Given the description of an element on the screen output the (x, y) to click on. 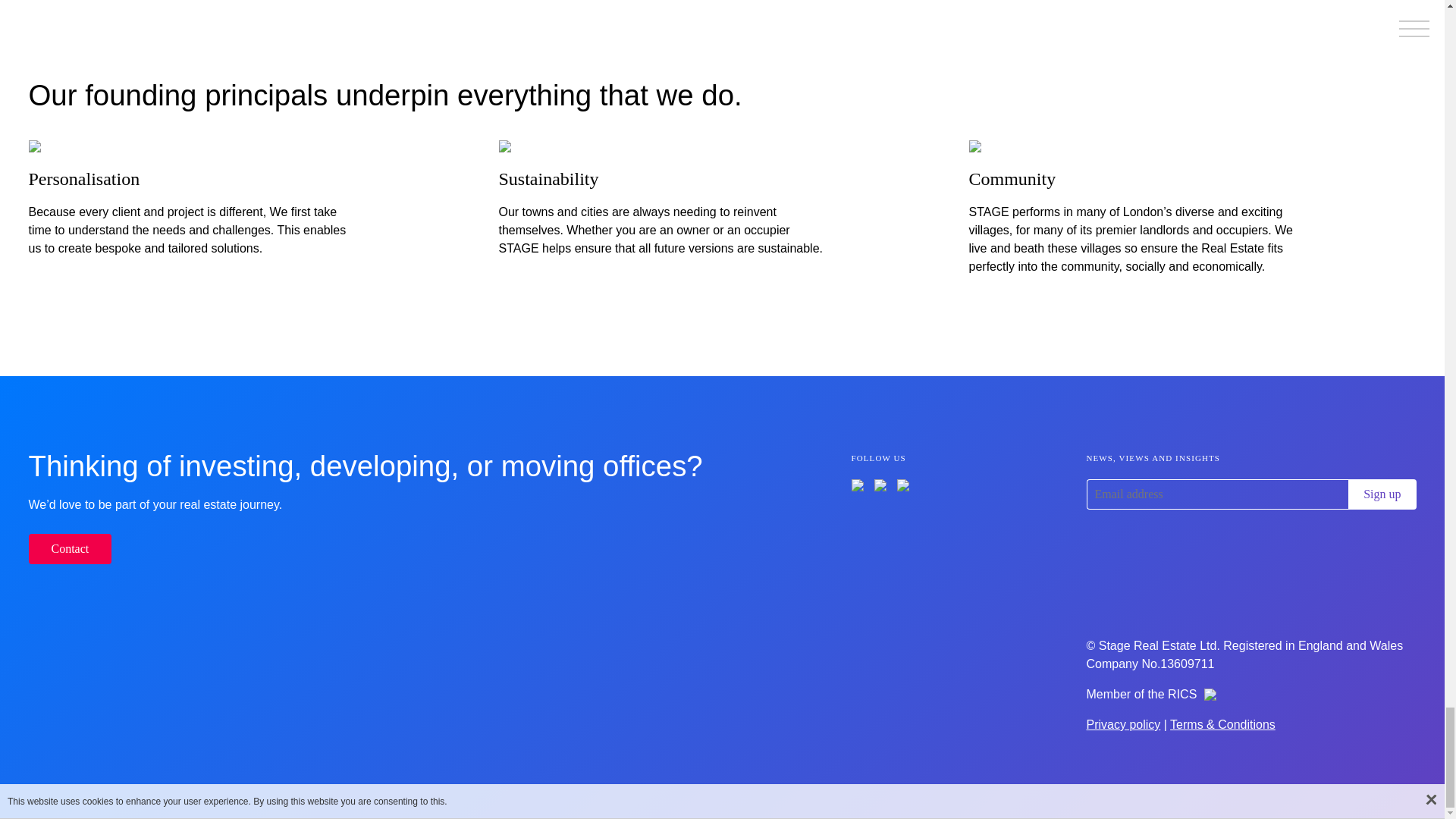
Sign up (1381, 494)
Privacy policy (1123, 724)
Contact (70, 548)
Sign up (1381, 494)
